Given the description of an element on the screen output the (x, y) to click on. 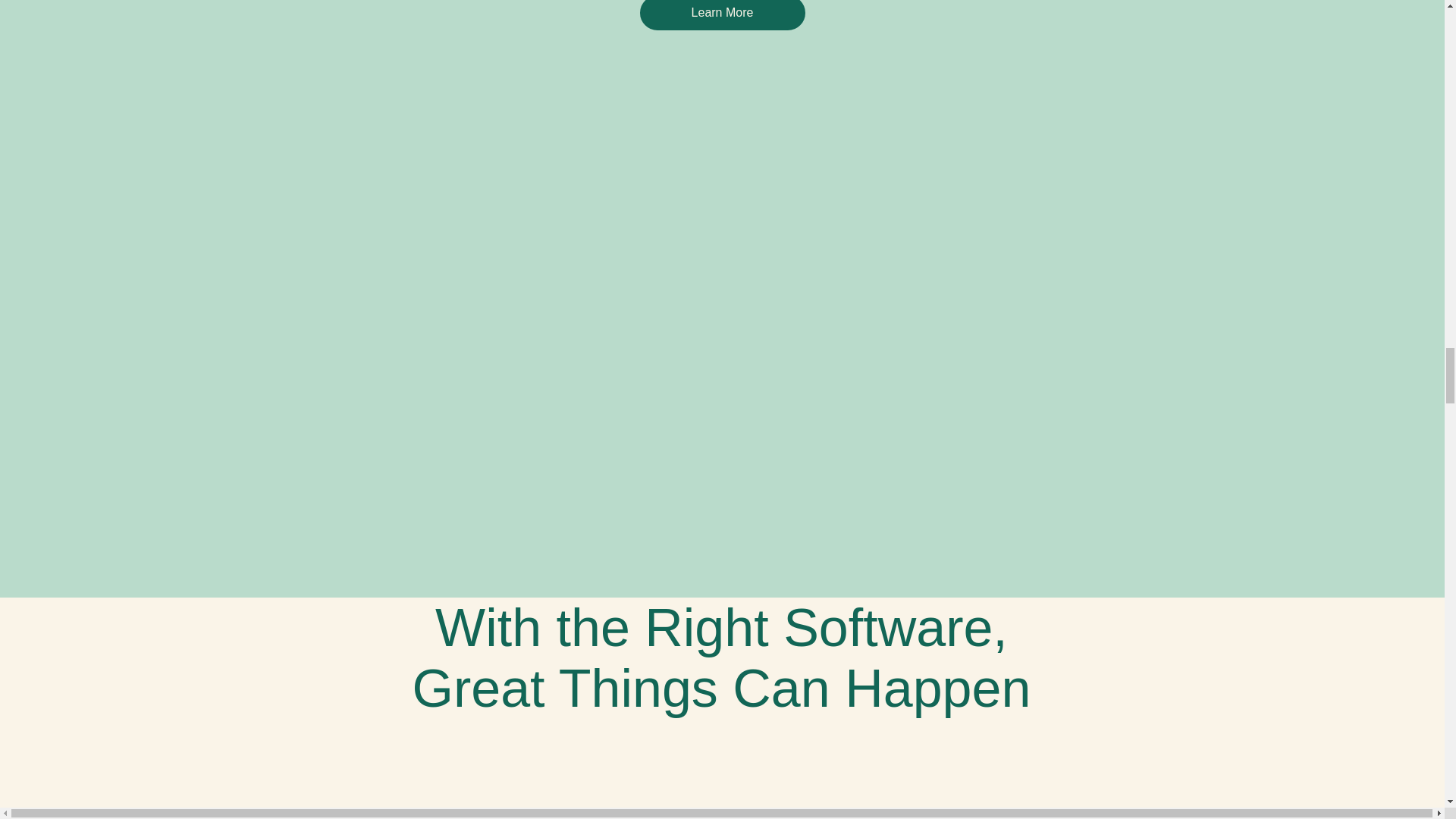
Learn More (722, 15)
